Given the description of an element on the screen output the (x, y) to click on. 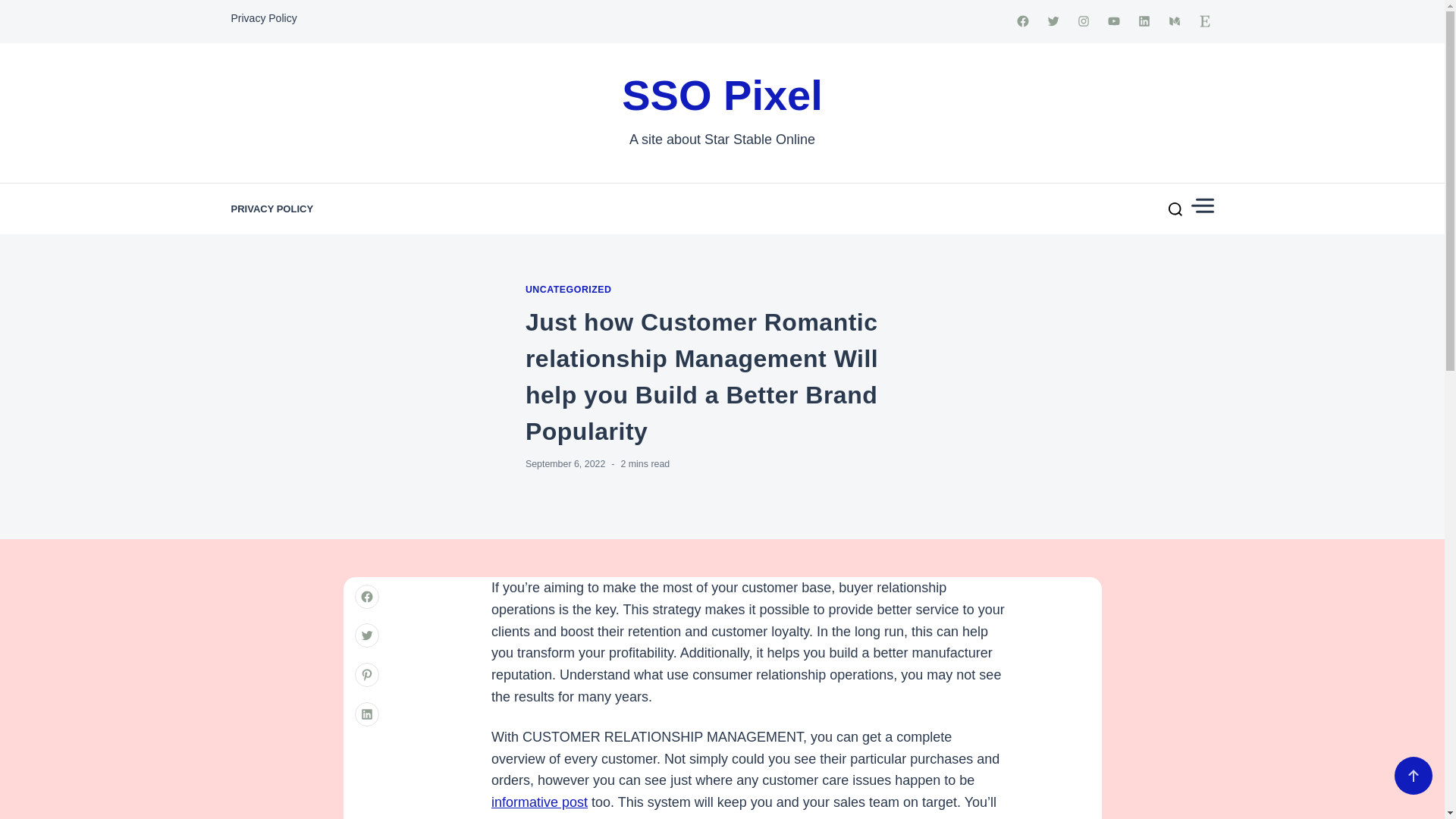
UNCATEGORIZED (568, 290)
informative post (540, 801)
PRIVACY POLICY (271, 209)
SSO Pixel (721, 95)
September 6, 2022 (565, 463)
Privacy Policy (263, 18)
